Given the description of an element on the screen output the (x, y) to click on. 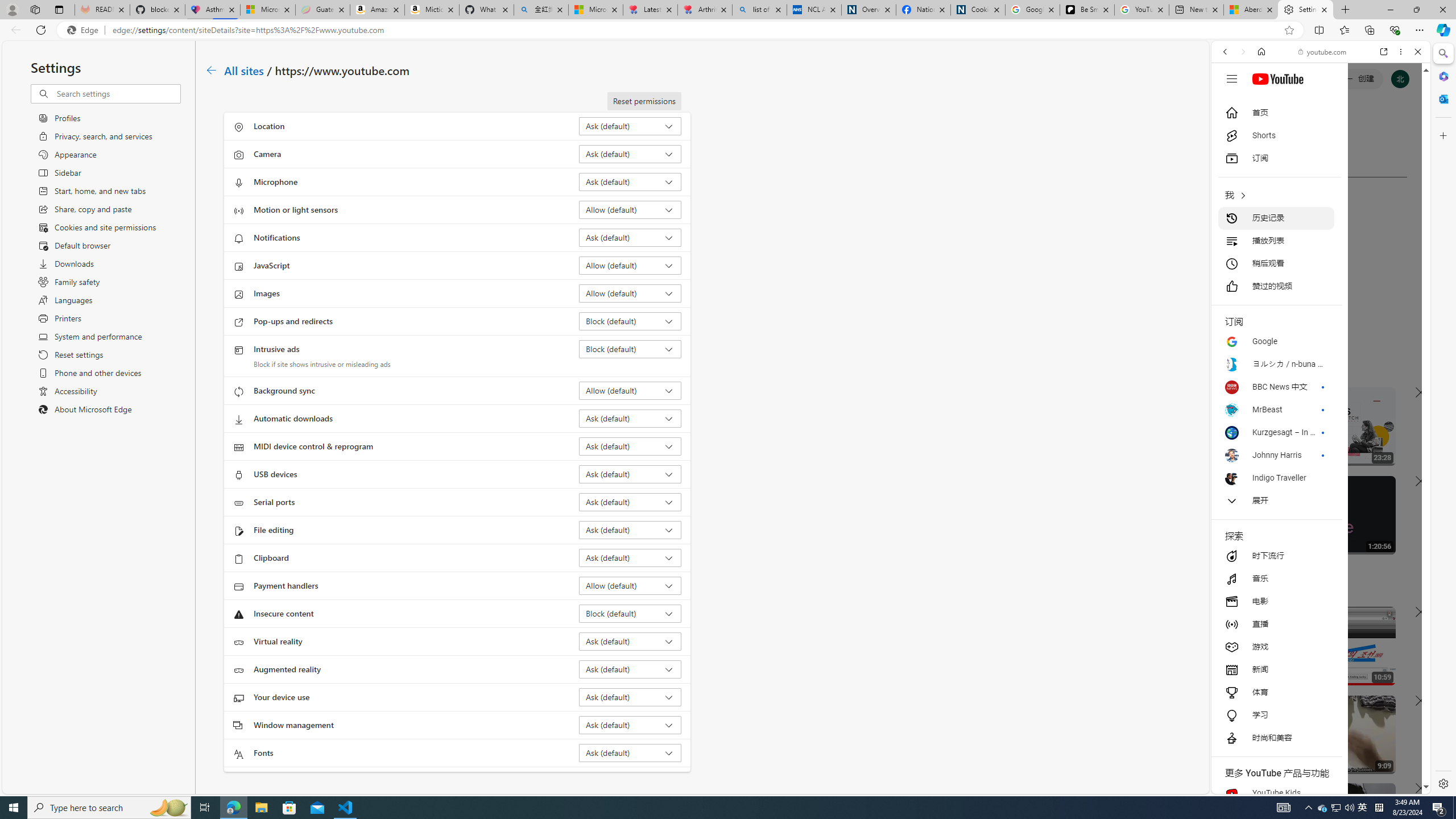
Reset permissions (644, 100)
Camera Ask (default) (630, 153)
Cookies (978, 9)
Show More Music (1390, 310)
Edge (84, 29)
Click to scroll right (1407, 456)
Trailer #2 [HD] (1320, 337)
